Given the description of an element on the screen output the (x, y) to click on. 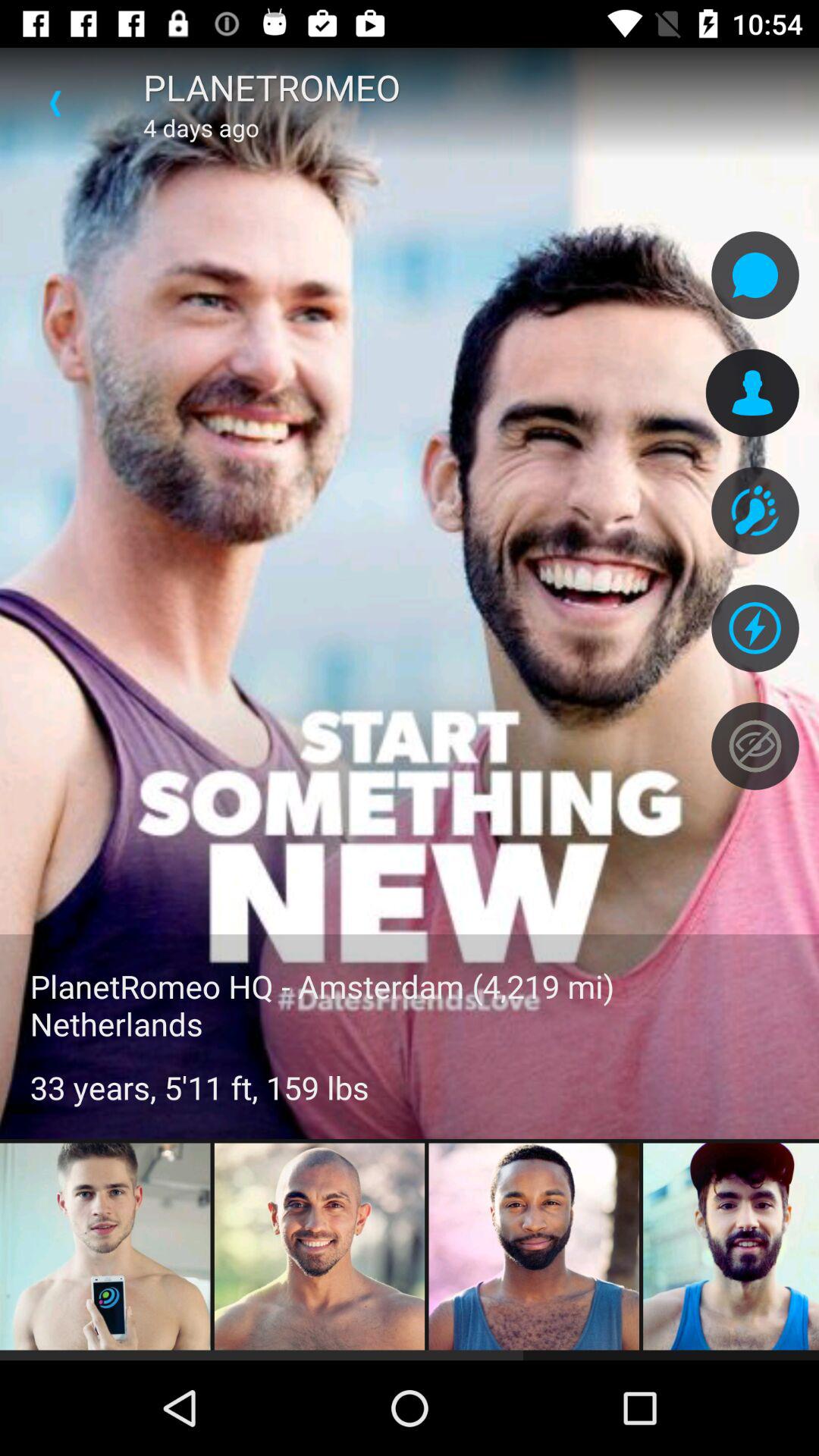
launch item above the planetromeo hq amsterdam icon (55, 103)
